Given the description of an element on the screen output the (x, y) to click on. 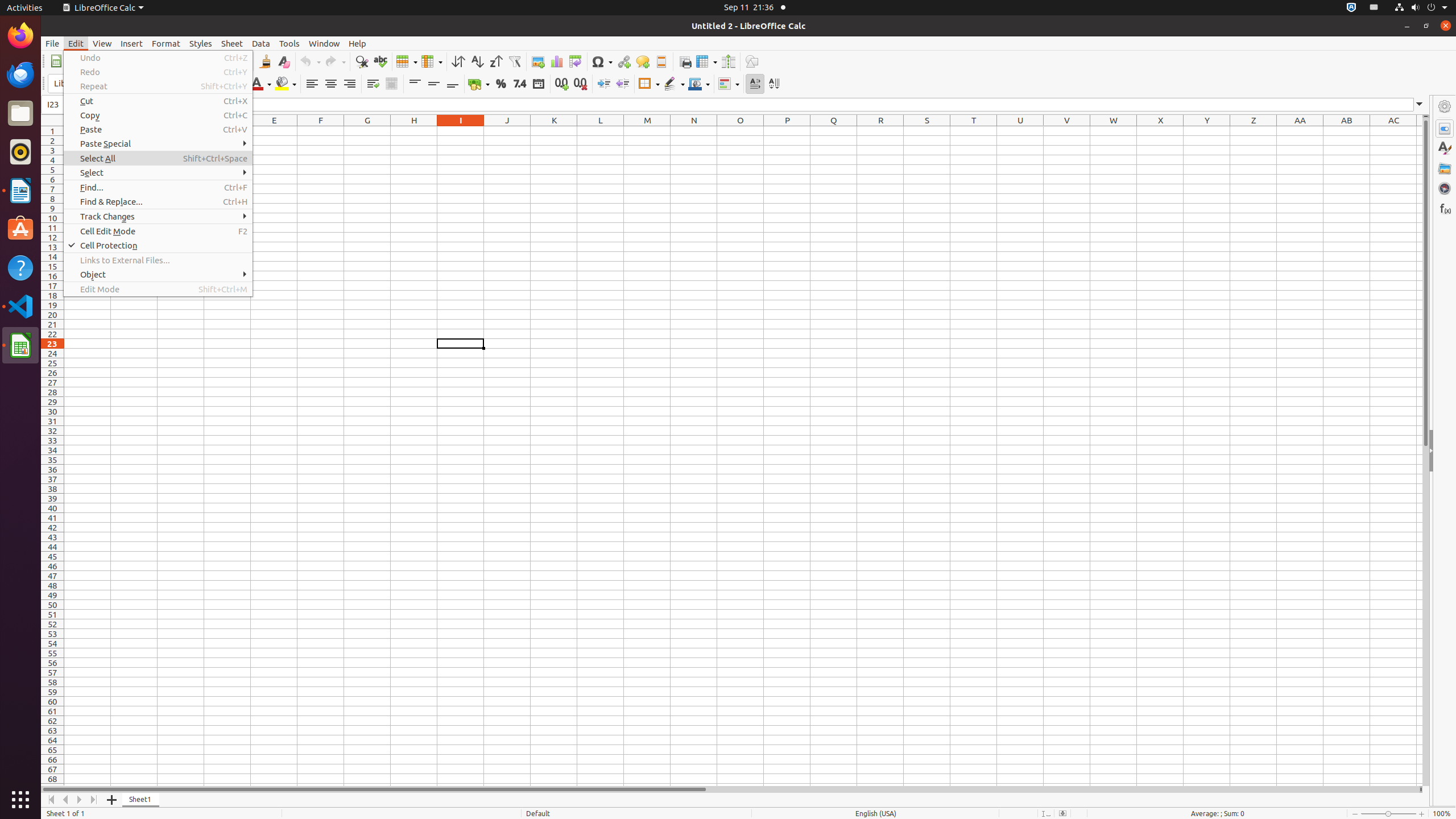
Move To End Element type: push-button (94, 799)
X1 Element type: table-cell (1159, 130)
Print Area Element type: push-button (684, 61)
Border Style Element type: push-button (673, 83)
Align Left Element type: push-button (311, 83)
